Given the description of an element on the screen output the (x, y) to click on. 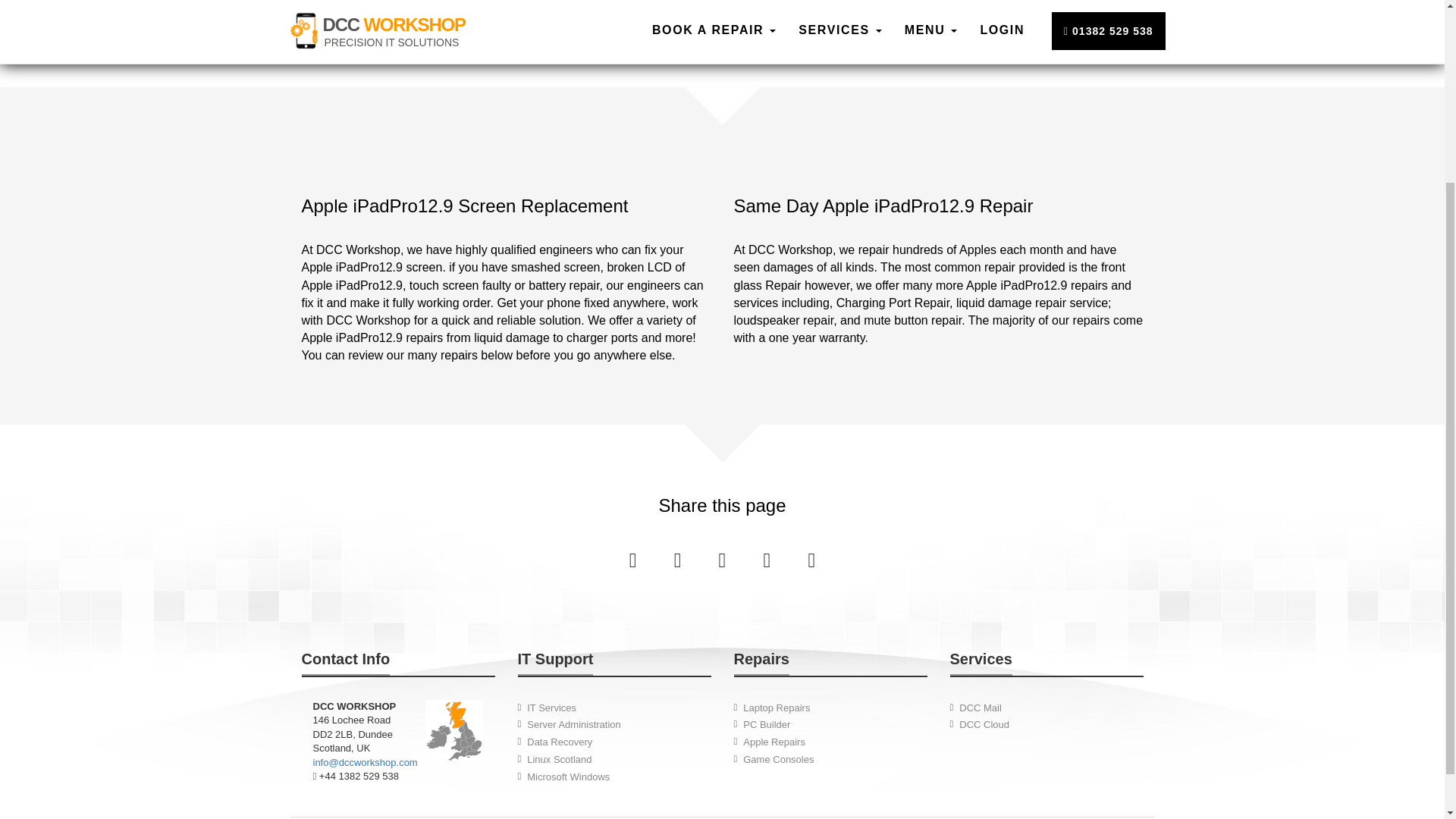
E-mail (769, 559)
Share on Twitter (679, 559)
Share on Facebook (635, 559)
Print (811, 559)
